Given the description of an element on the screen output the (x, y) to click on. 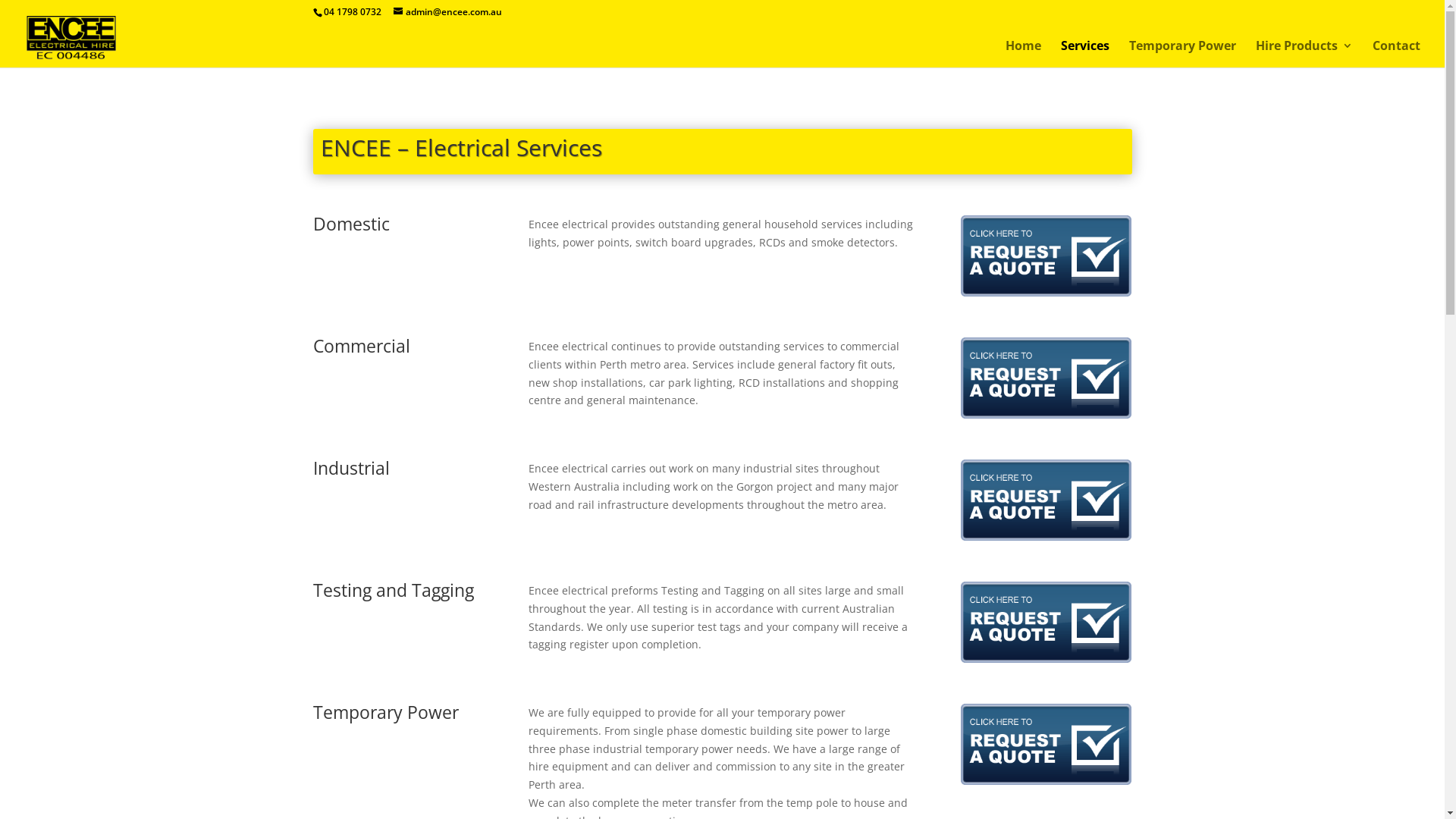
Temporary Power Element type: text (1182, 53)
Services Element type: text (1084, 53)
Hire Products Element type: text (1303, 53)
admin@encee.com.au Element type: text (446, 11)
Contact Element type: text (1396, 53)
Home Element type: text (1023, 53)
